Given the description of an element on the screen output the (x, y) to click on. 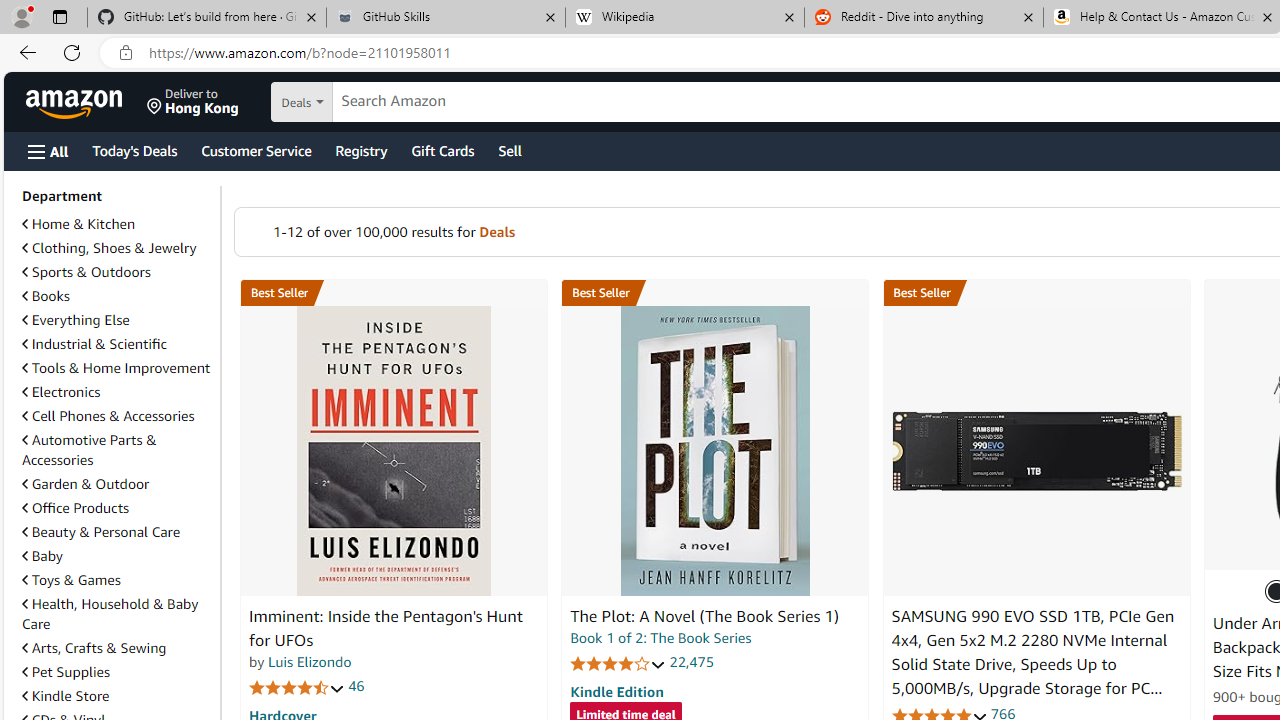
Customer Service (256, 150)
Baby (41, 556)
Imminent: Inside the Pentagon's Hunt for UFOs (393, 451)
Office Products (117, 507)
Automotive Parts & Accessories (89, 449)
Cell Phones & Accessories (117, 416)
Home & Kitchen (117, 223)
Health, Household & Baby Care (117, 614)
Garden & Outdoor (117, 483)
